Given the description of an element on the screen output the (x, y) to click on. 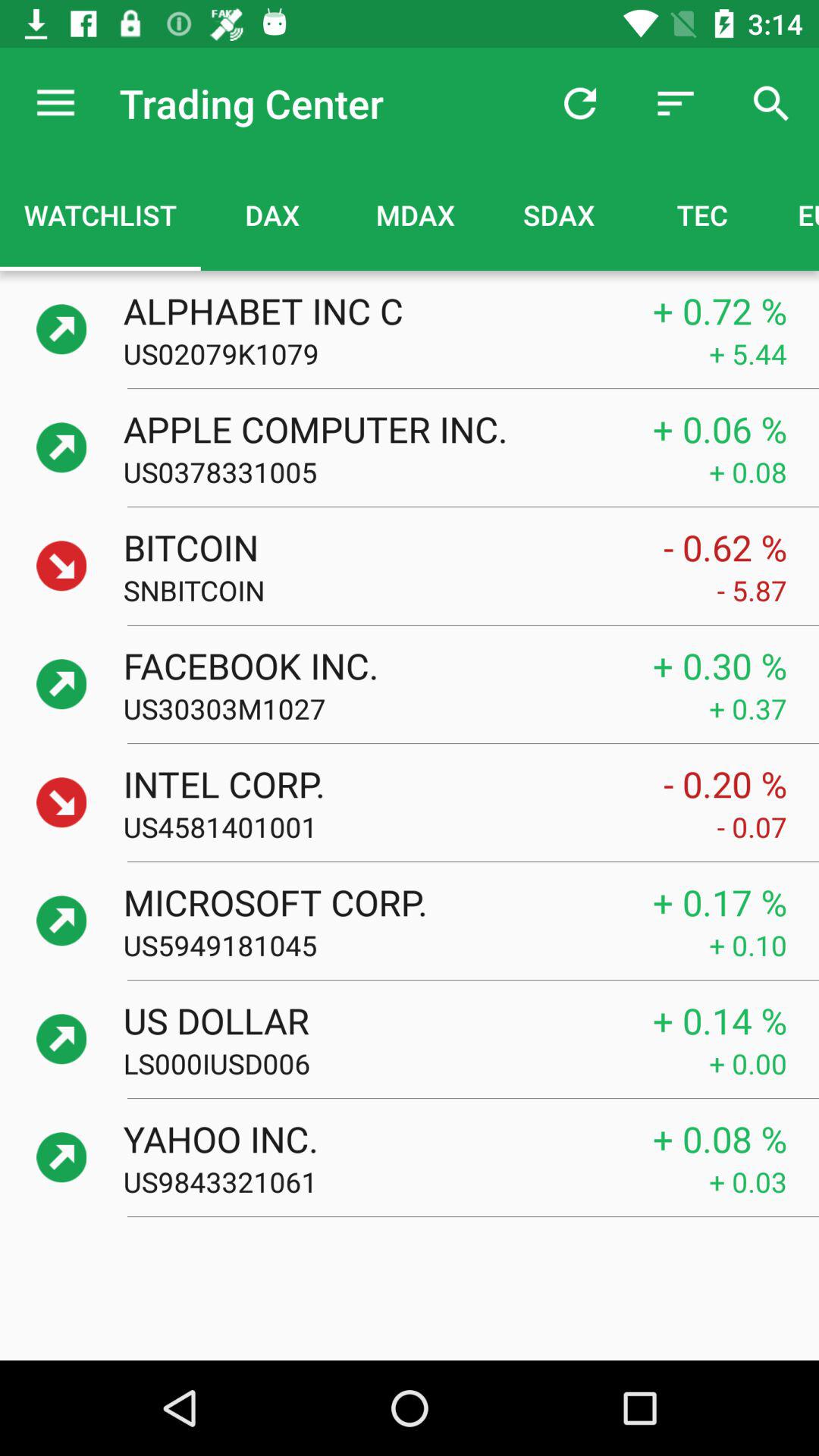
press icon next to the + 0.08 item (416, 471)
